Given the description of an element on the screen output the (x, y) to click on. 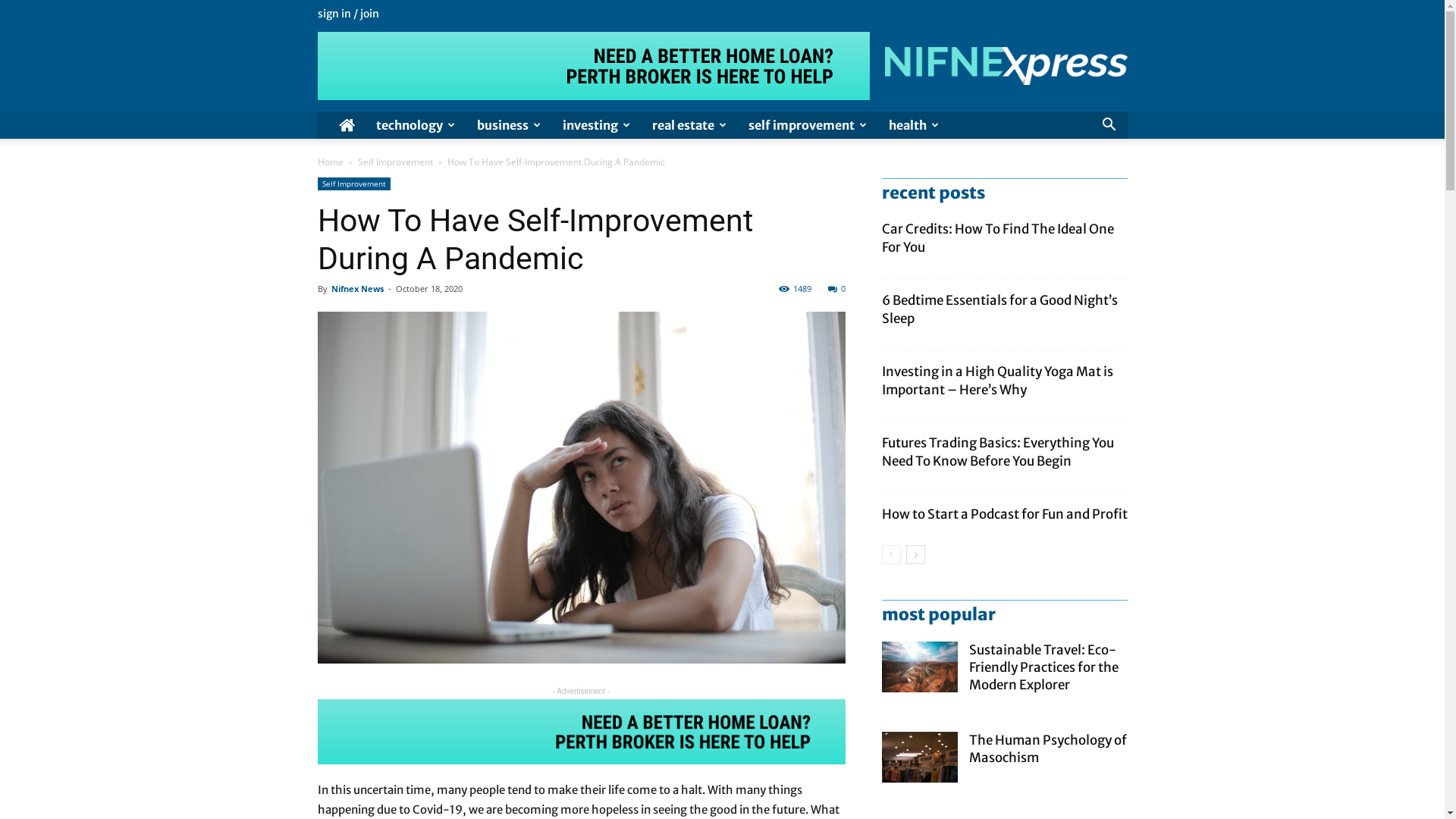
0 Element type: text (836, 288)
Home Element type: text (329, 161)
Self Improvement Element type: text (395, 161)
Search Element type: text (1085, 181)
Car Credits: How To Find The Ideal One For You Element type: text (997, 237)
health Element type: text (914, 124)
real estate Element type: text (689, 124)
sign in / join Element type: text (347, 13)
The Human Psychology of Masochism Element type: text (1047, 748)
Self Improvement Element type: text (352, 183)
investing Element type: text (596, 124)
business Element type: text (508, 124)
Nifnex News Element type: text (356, 288)
technology Element type: text (415, 124)
self improvement Element type: text (807, 124)
How to Start a Podcast for Fun and Profit Element type: text (1003, 513)
The Human Psychology of Masochism Element type: hover (919, 756)
self improvement Element type: hover (580, 487)
